Given the description of an element on the screen output the (x, y) to click on. 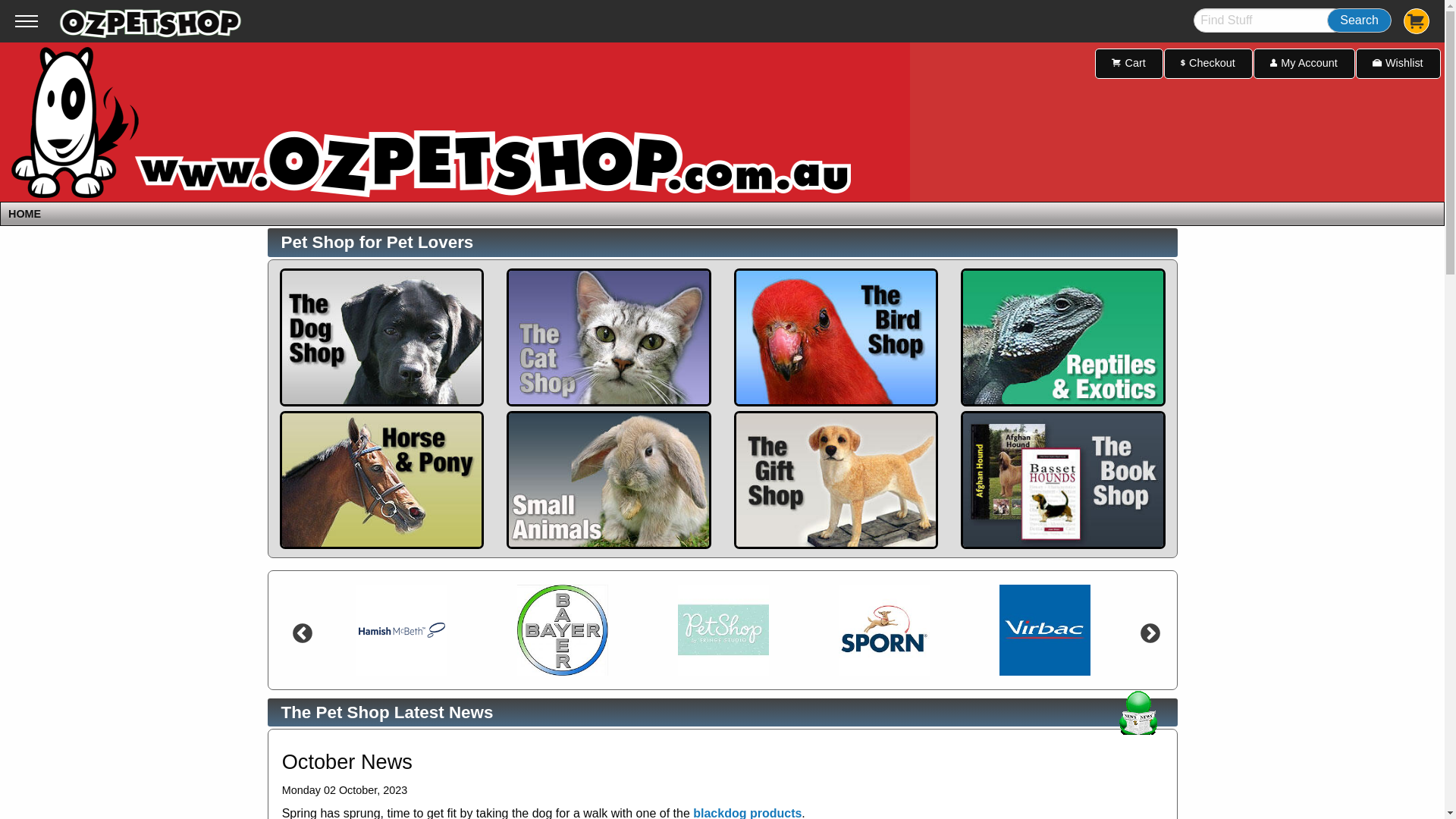
The Pet Shop Latest News Element type: text (386, 711)
Checkout Element type: text (1208, 63)
Search Element type: text (1359, 20)
Next Element type: text (1146, 629)
Previous Element type: text (298, 629)
Wishlist Element type: text (1397, 63)
My Account Element type: text (1304, 63)
Cart Element type: text (1129, 63)
HOME Element type: text (24, 213)
